Given the description of an element on the screen output the (x, y) to click on. 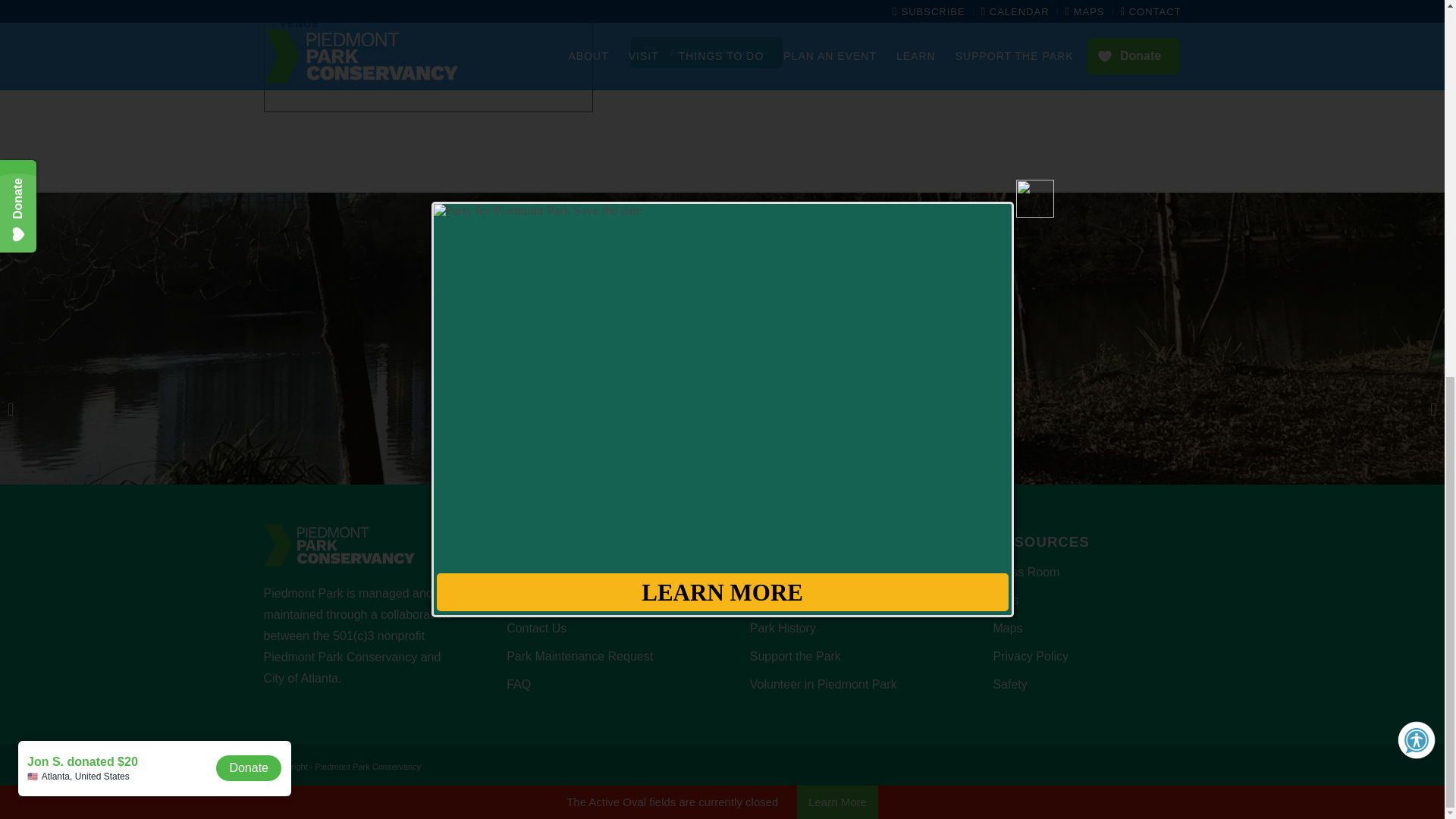
Subscribe (878, 334)
